Given the description of an element on the screen output the (x, y) to click on. 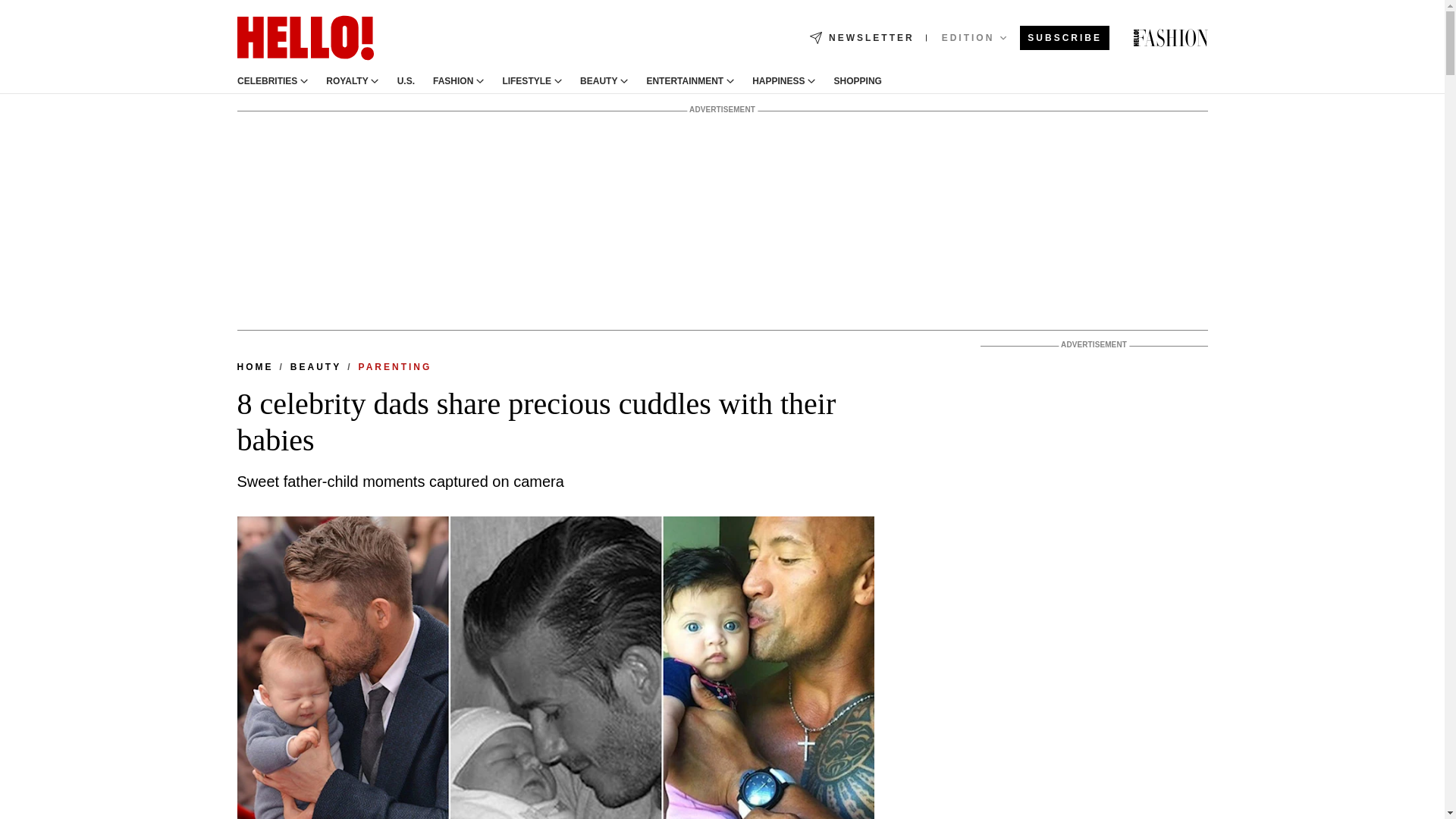
3rd party ad content (1093, 588)
CELEBRITIES (266, 81)
ROYALTY (347, 81)
BEAUTY (598, 81)
FASHION (452, 81)
U.S. (404, 81)
NEWSLETTER (861, 38)
